Given the description of an element on the screen output the (x, y) to click on. 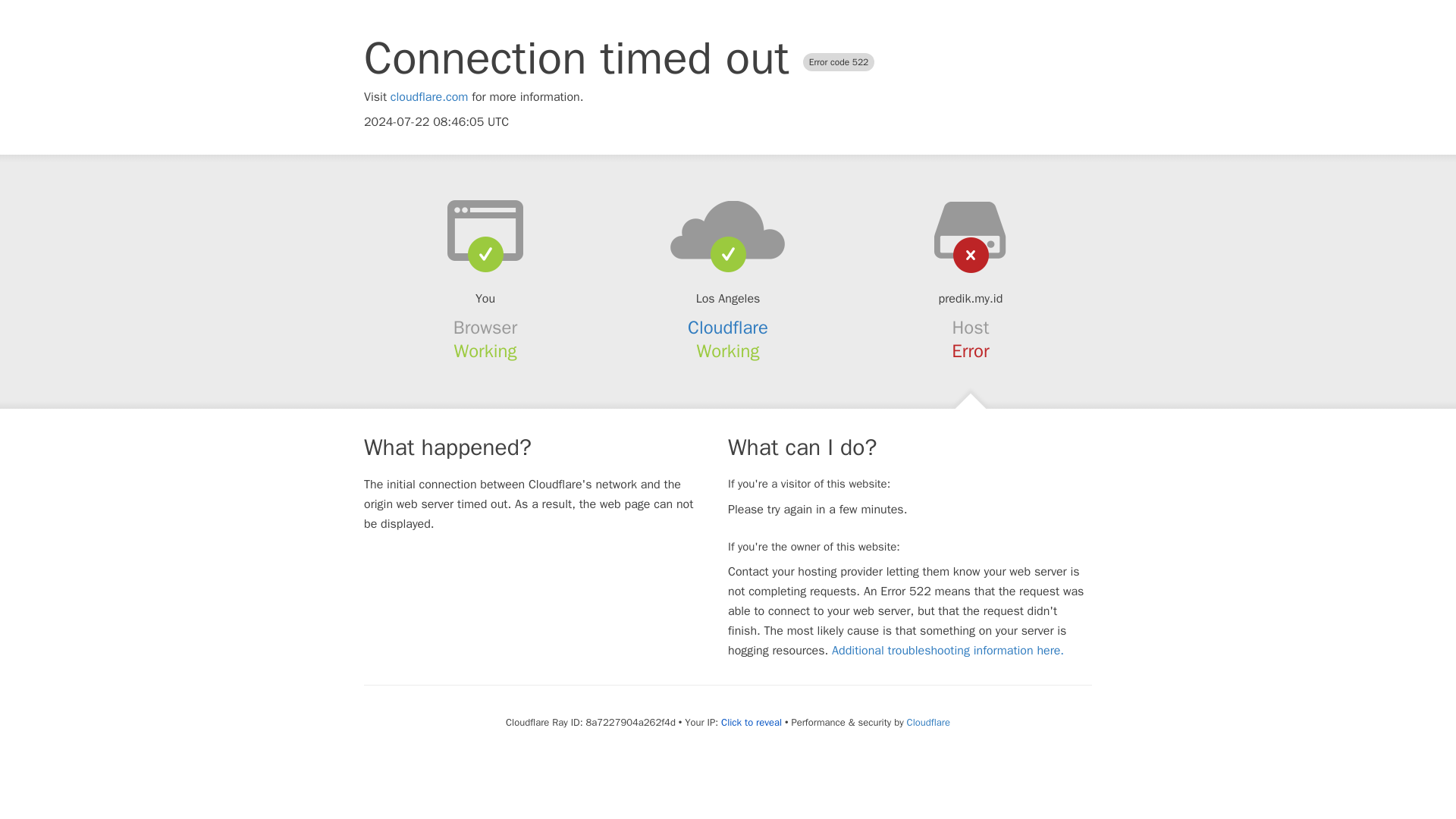
Click to reveal (750, 722)
cloudflare.com (429, 96)
Cloudflare (928, 721)
Cloudflare (727, 327)
Additional troubleshooting information here. (947, 650)
